Given the description of an element on the screen output the (x, y) to click on. 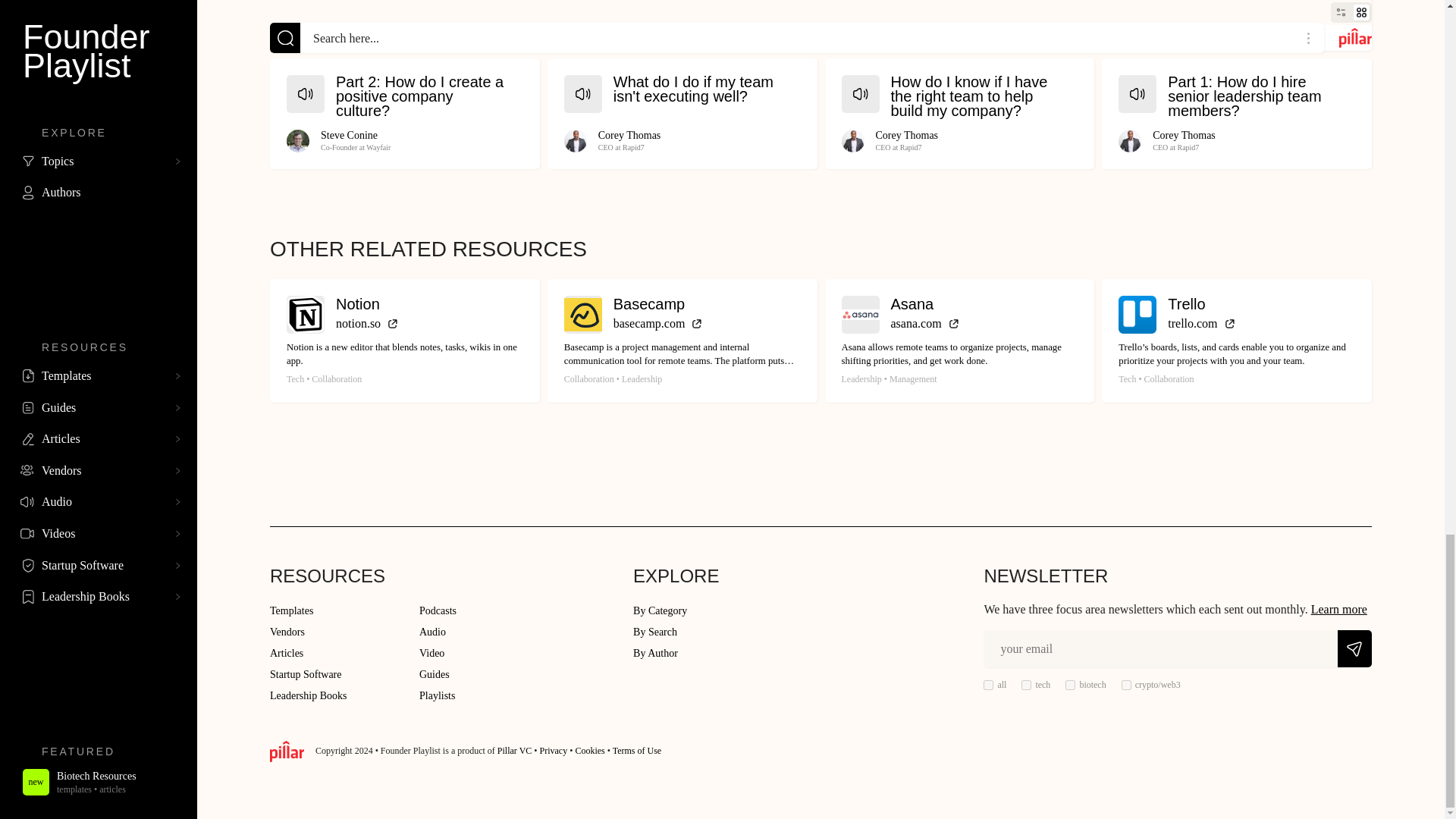
Send (1354, 647)
Tech (1026, 685)
Crypto (1126, 685)
Biotech (1070, 685)
All (988, 685)
